Given the description of an element on the screen output the (x, y) to click on. 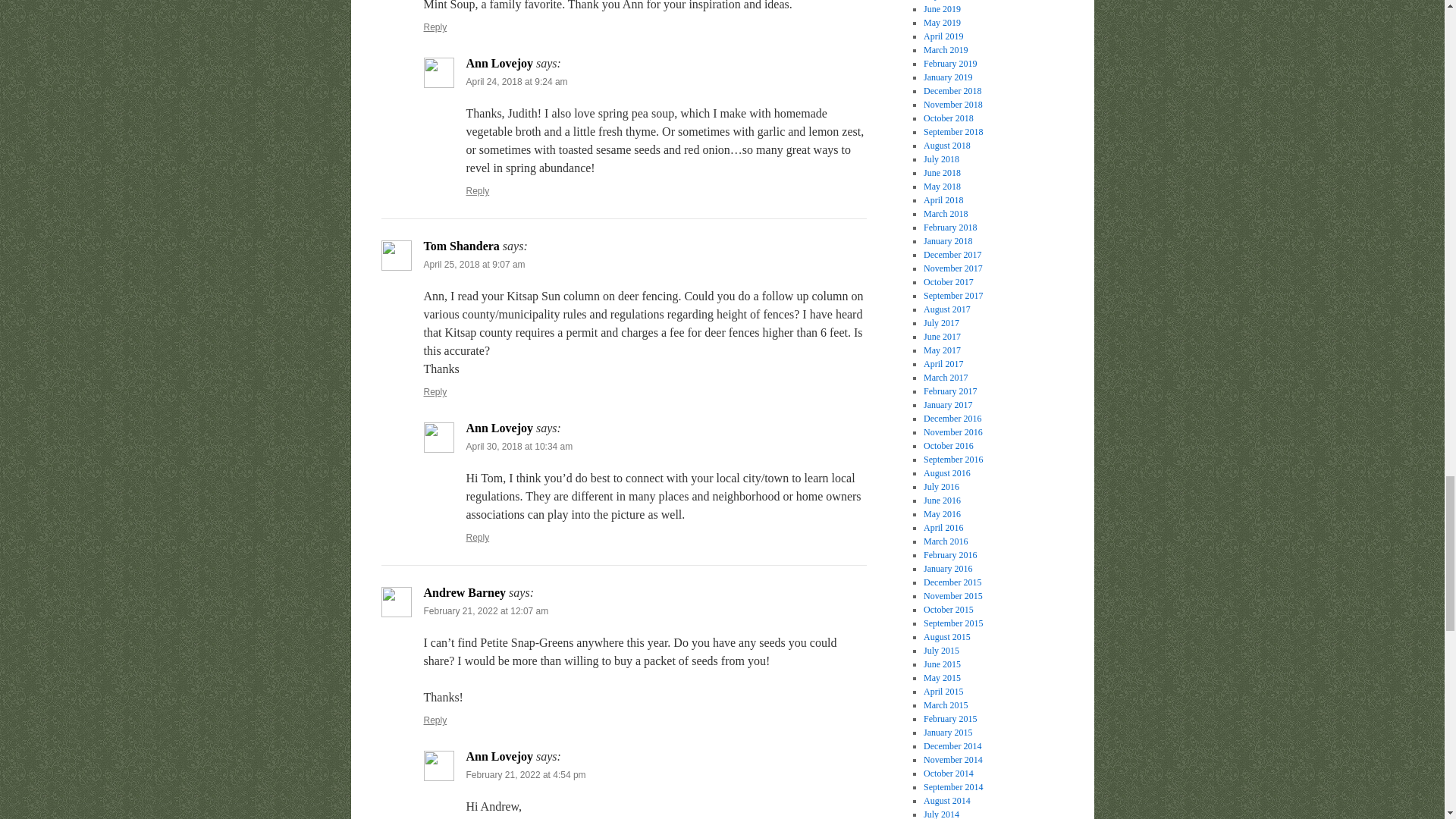
Reply (434, 27)
April 24, 2018 at 9:24 am (516, 81)
Reply (477, 190)
February 21, 2022 at 12:07 am (485, 611)
Reply (477, 537)
April 30, 2018 at 10:34 am (518, 446)
Reply (434, 719)
Reply (434, 391)
April 25, 2018 at 9:07 am (473, 264)
